Given the description of an element on the screen output the (x, y) to click on. 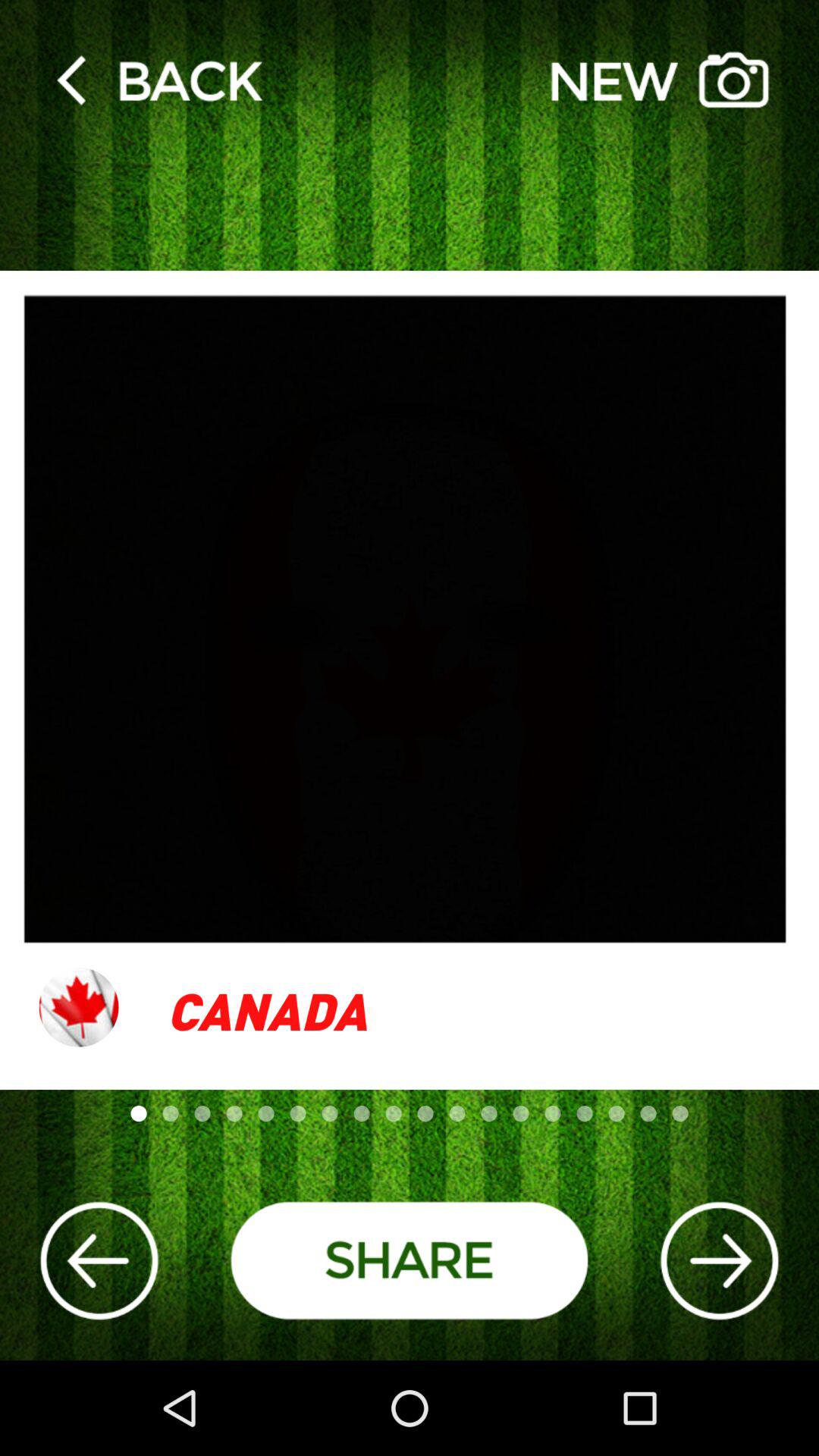
go to back (158, 79)
